Given the description of an element on the screen output the (x, y) to click on. 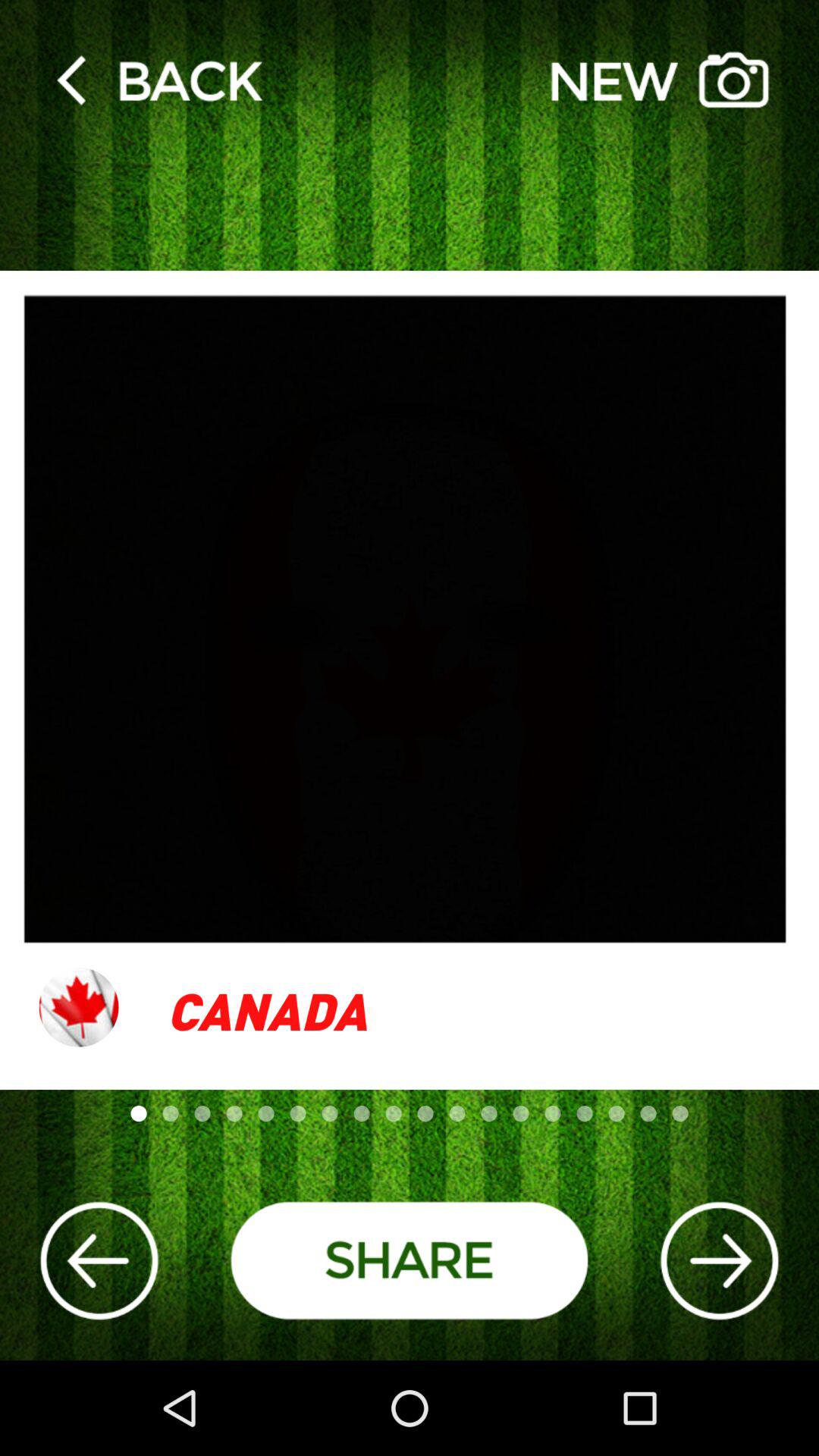
go to back (158, 79)
